Given the description of an element on the screen output the (x, y) to click on. 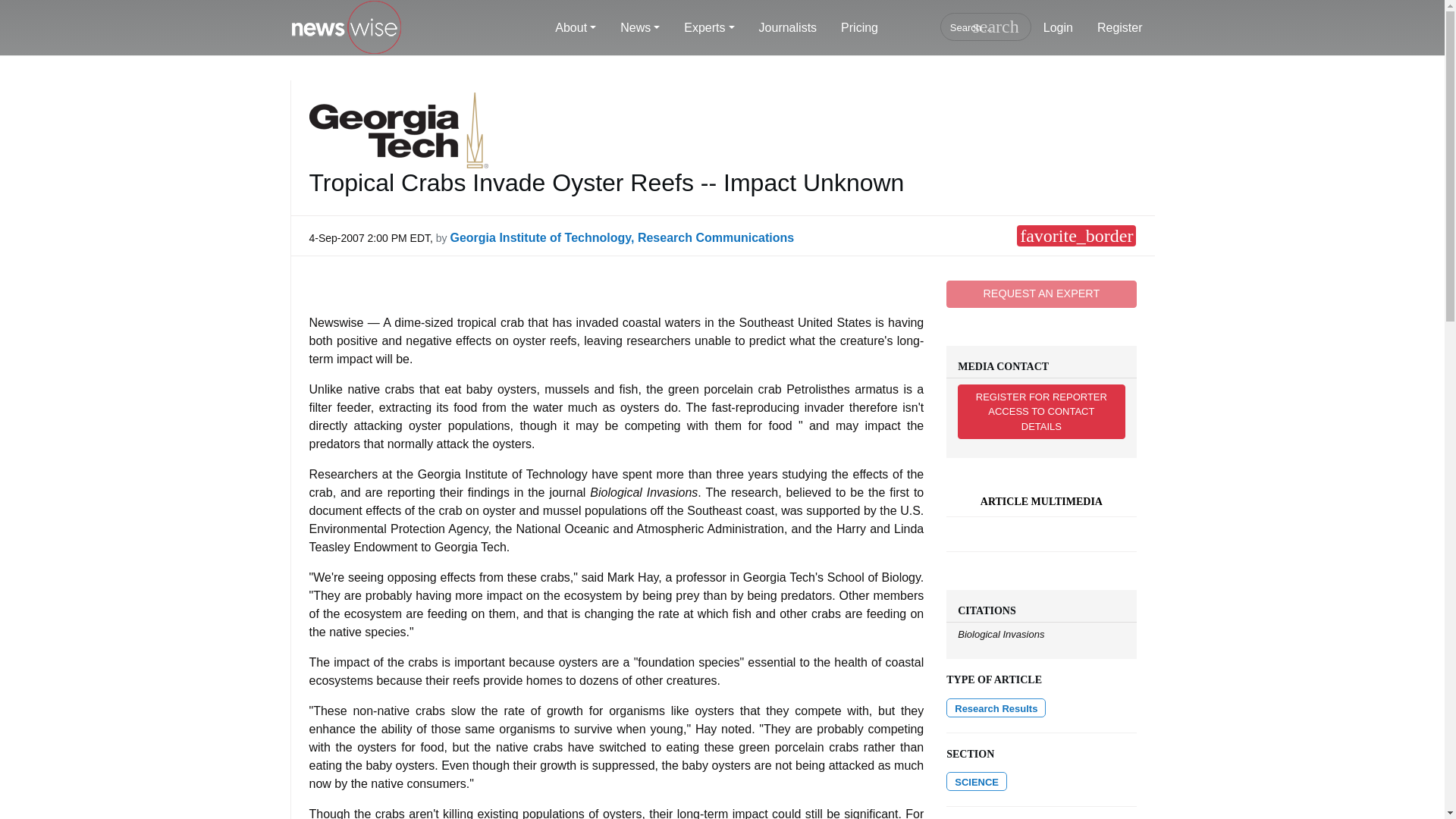
News (639, 27)
Research Results (995, 707)
About (575, 27)
Show all articles in this channel (976, 781)
Add to Favorites (1075, 235)
Newswise logo (345, 28)
